Given the description of an element on the screen output the (x, y) to click on. 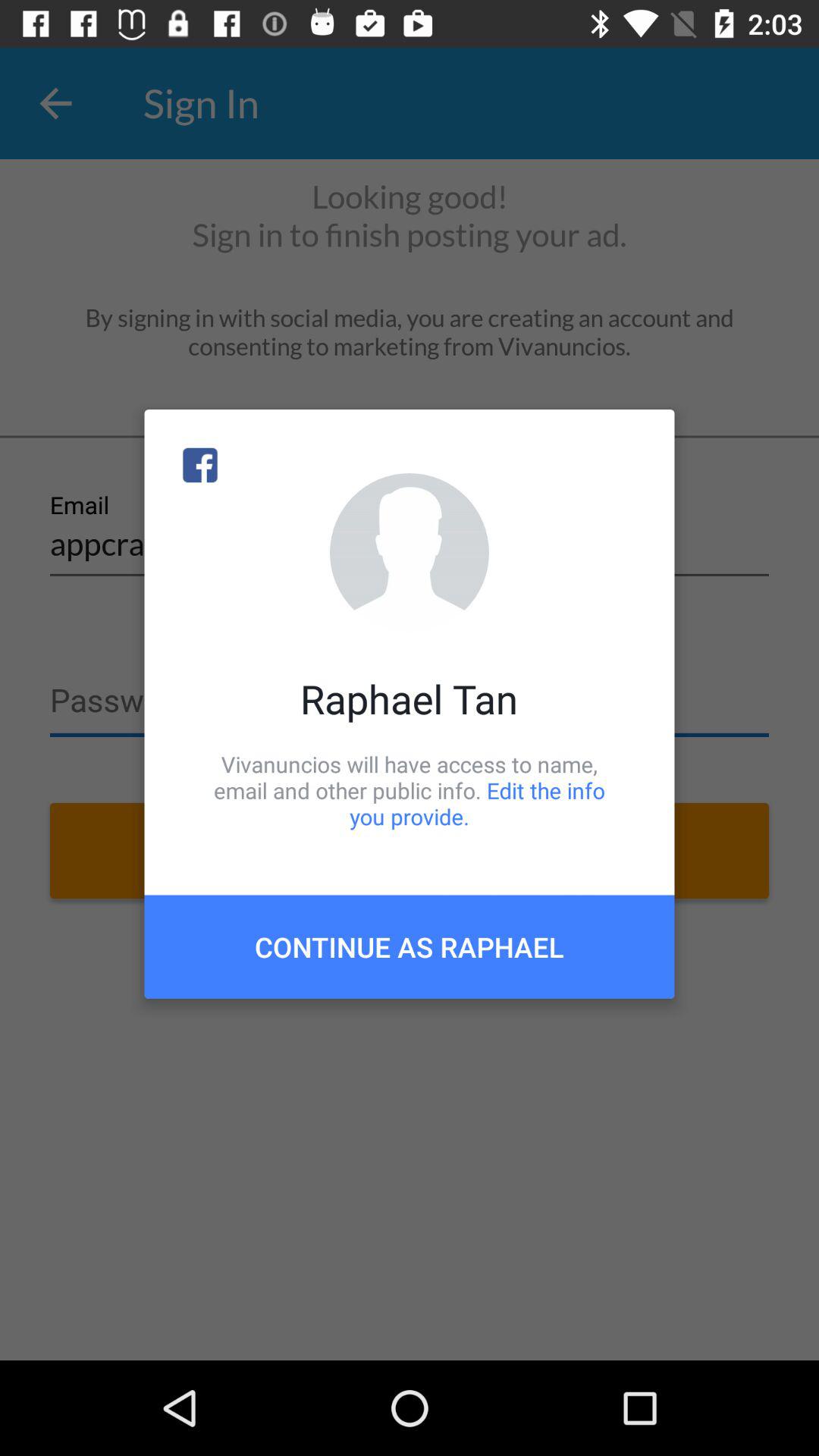
jump until vivanuncios will have item (409, 790)
